Given the description of an element on the screen output the (x, y) to click on. 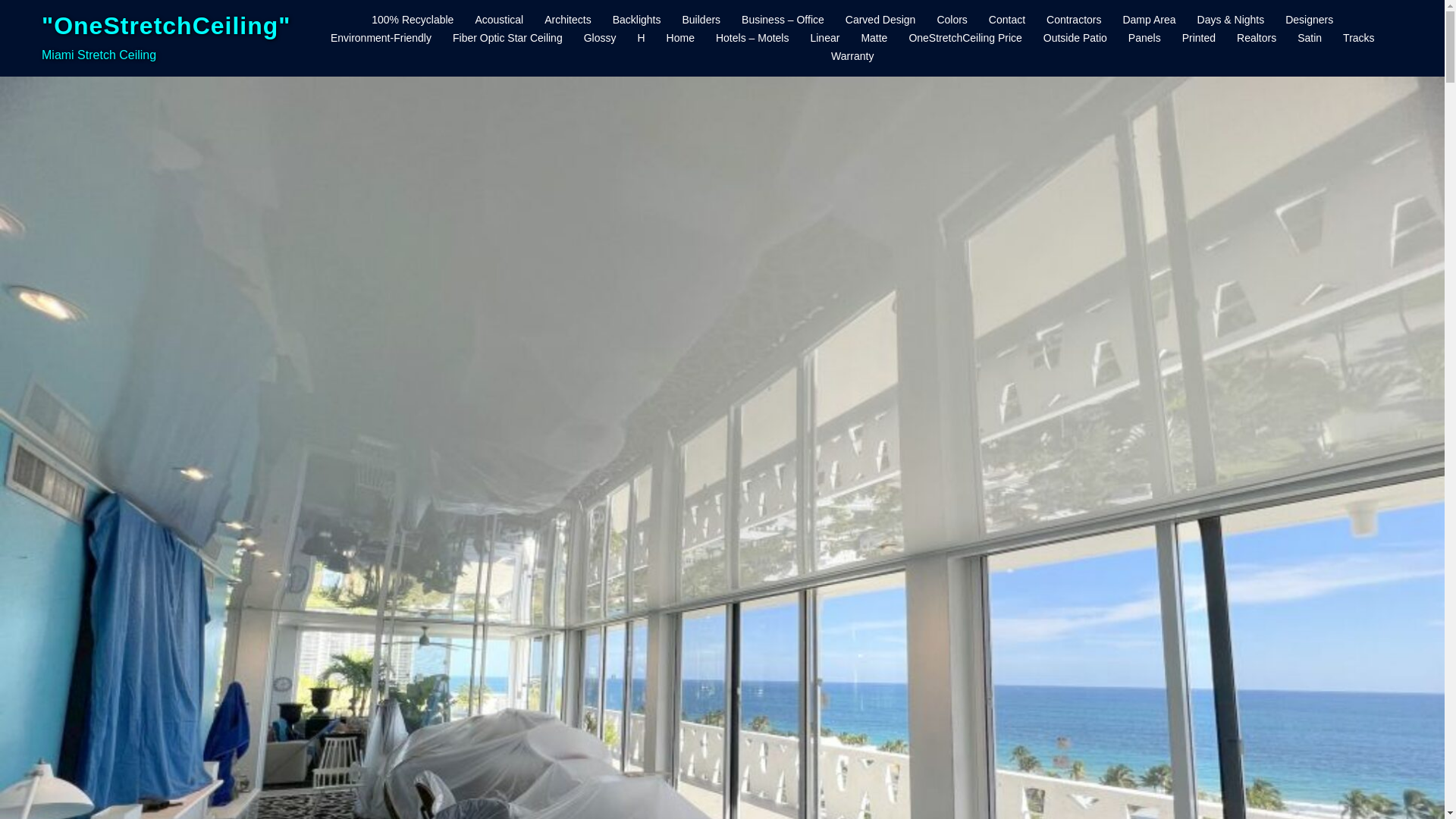
Printed (1198, 38)
Builders (701, 20)
Realtors (1256, 38)
Home (680, 38)
Panels (1144, 38)
Fiber Optic Star Ceiling (507, 38)
Environment-Friendly (380, 38)
Damp Area (1148, 20)
Satin (1309, 38)
Contractors (1073, 20)
Architects (567, 20)
Tracks (1358, 38)
Glossy (599, 38)
Warranty (852, 56)
Matte (873, 38)
